Given the description of an element on the screen output the (x, y) to click on. 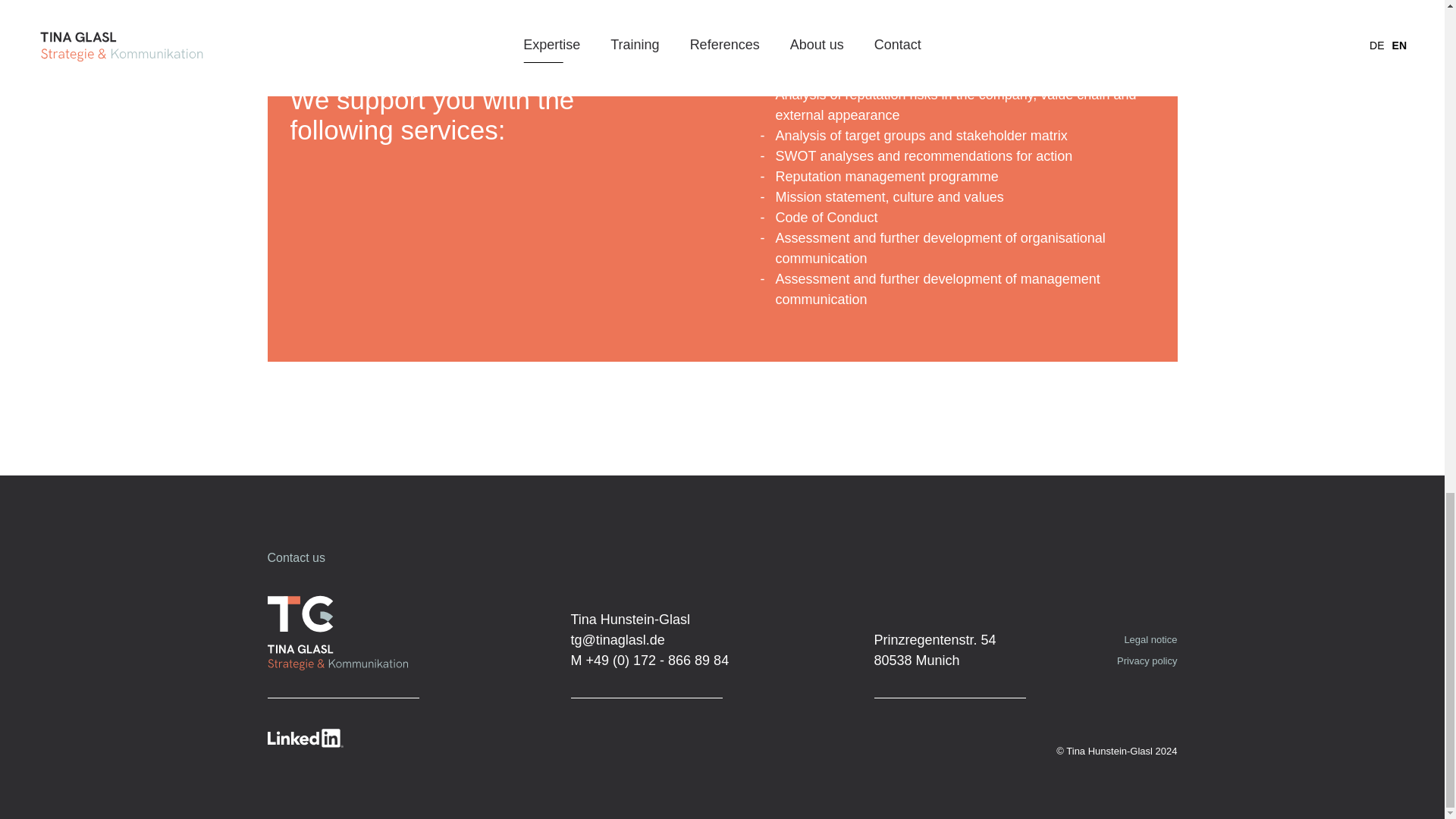
Privacy policy (1146, 660)
Legal notice (1150, 639)
